Given the description of an element on the screen output the (x, y) to click on. 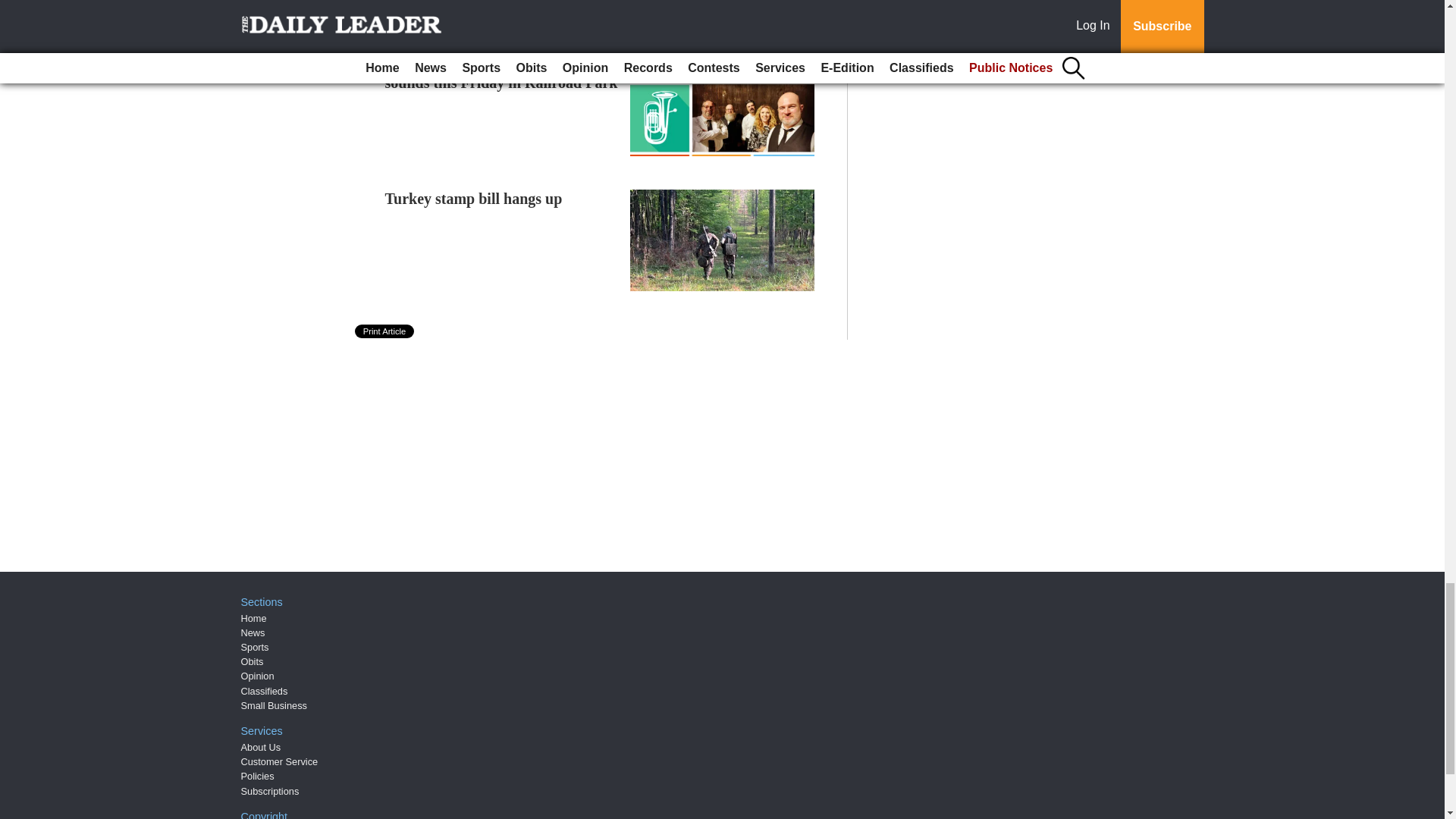
Turkey stamp bill hangs up (473, 198)
Print Article (384, 331)
Turkey stamp bill hangs up (473, 198)
